Given the description of an element on the screen output the (x, y) to click on. 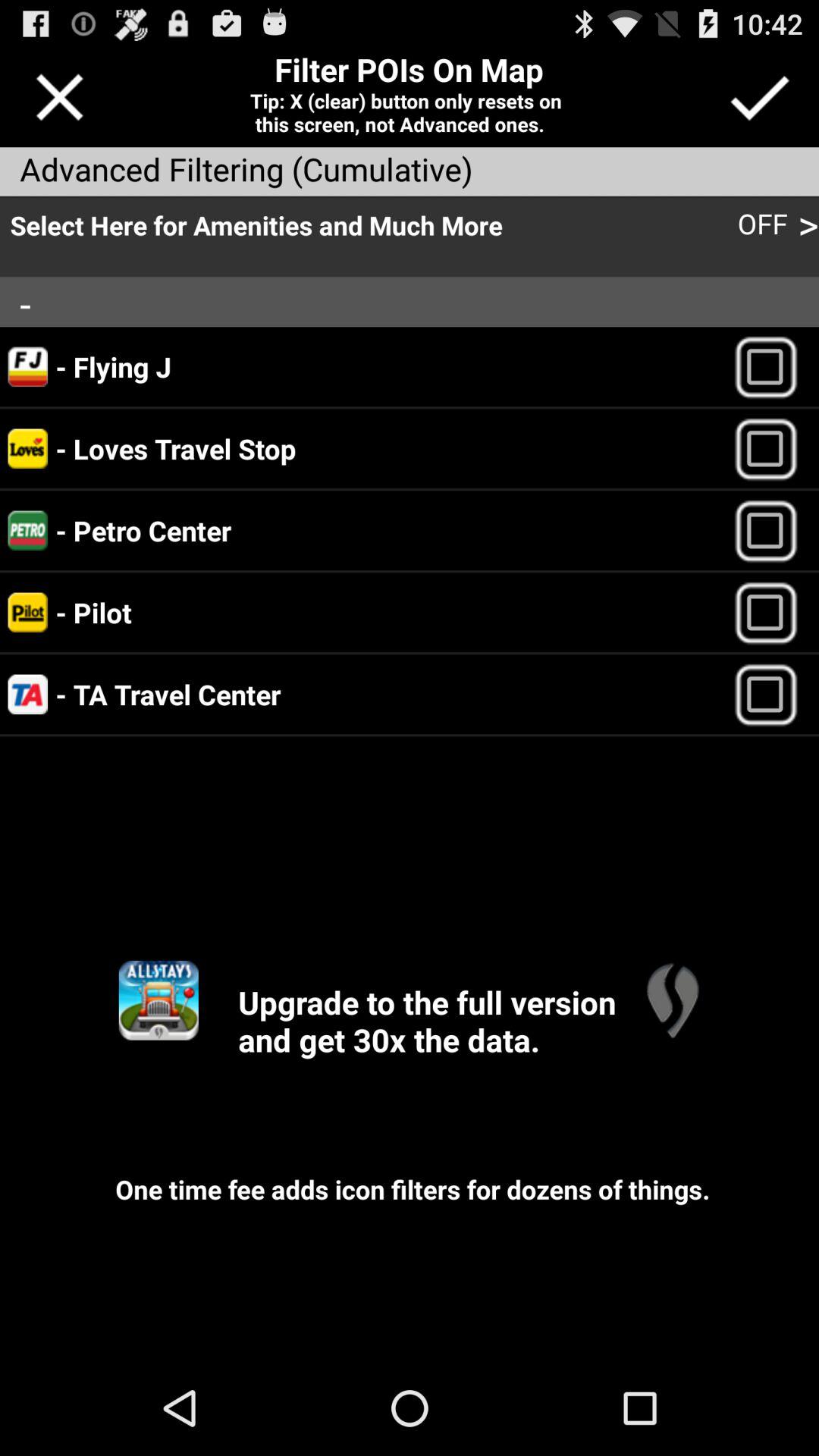
select the logo of pilot (27, 611)
click on the logo of flying j (27, 367)
select the x icon above advanced filtering (59, 97)
select the logo of ta travel center (27, 694)
